Given the description of an element on the screen output the (x, y) to click on. 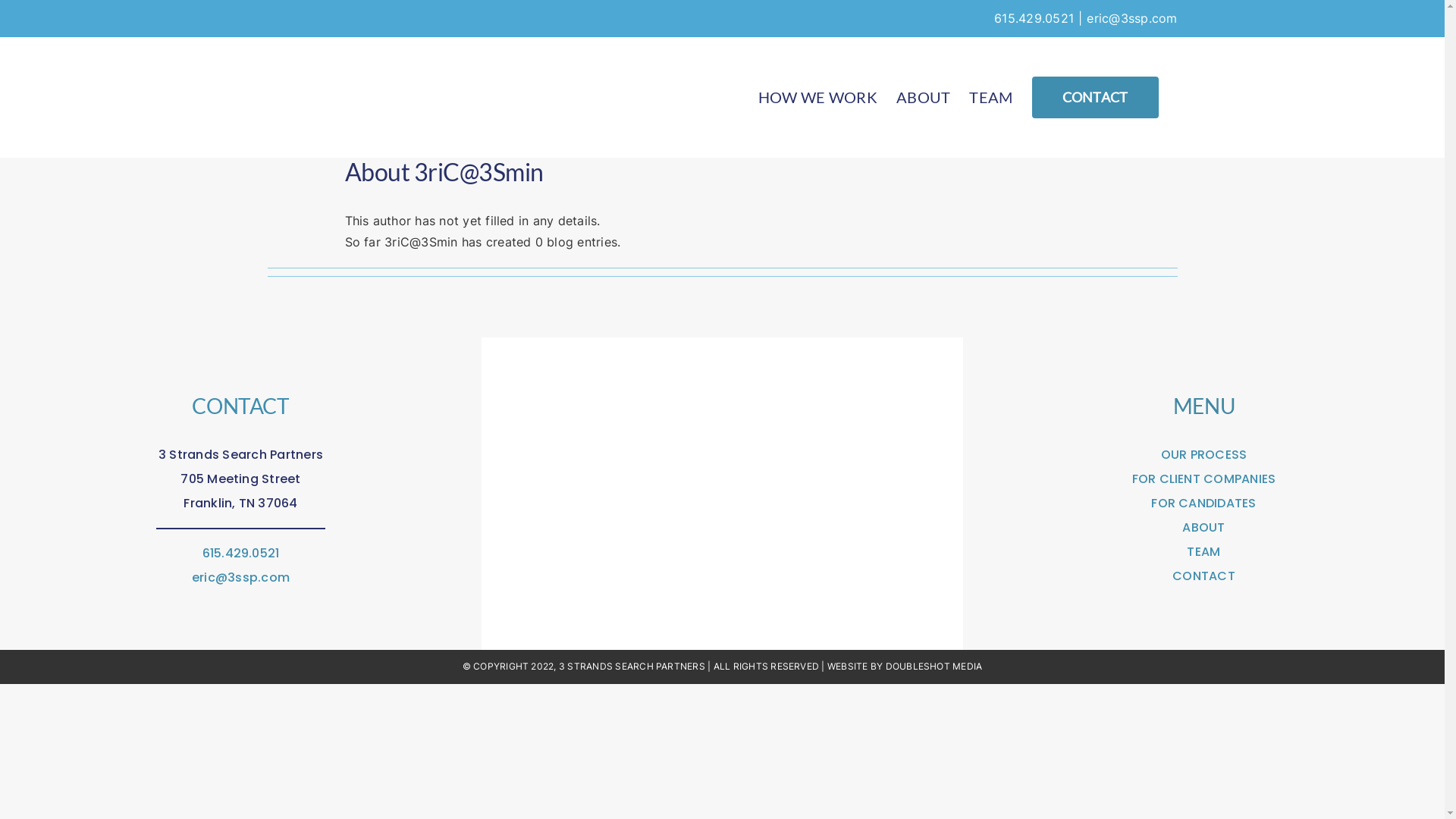
CONTACT Element type: text (1095, 96)
CONTACT Element type: text (1203, 575)
ABOUT Element type: text (1203, 527)
TEAM Element type: text (1203, 551)
ABOUT Element type: text (923, 96)
DOUBLESHOT MEDIA Element type: text (933, 665)
615.429.0521 Element type: text (240, 552)
TEAM Element type: text (990, 96)
eric@3ssp.com Element type: text (240, 577)
OUR PROCESS Element type: text (1204, 454)
FOR CANDIDATES Element type: text (1203, 502)
FOR CLIENT COMPANIES Element type: text (1204, 478)
eric@3ssp.com Element type: text (1131, 17)
HOW WE WORK Element type: text (817, 96)
